Given the description of an element on the screen output the (x, y) to click on. 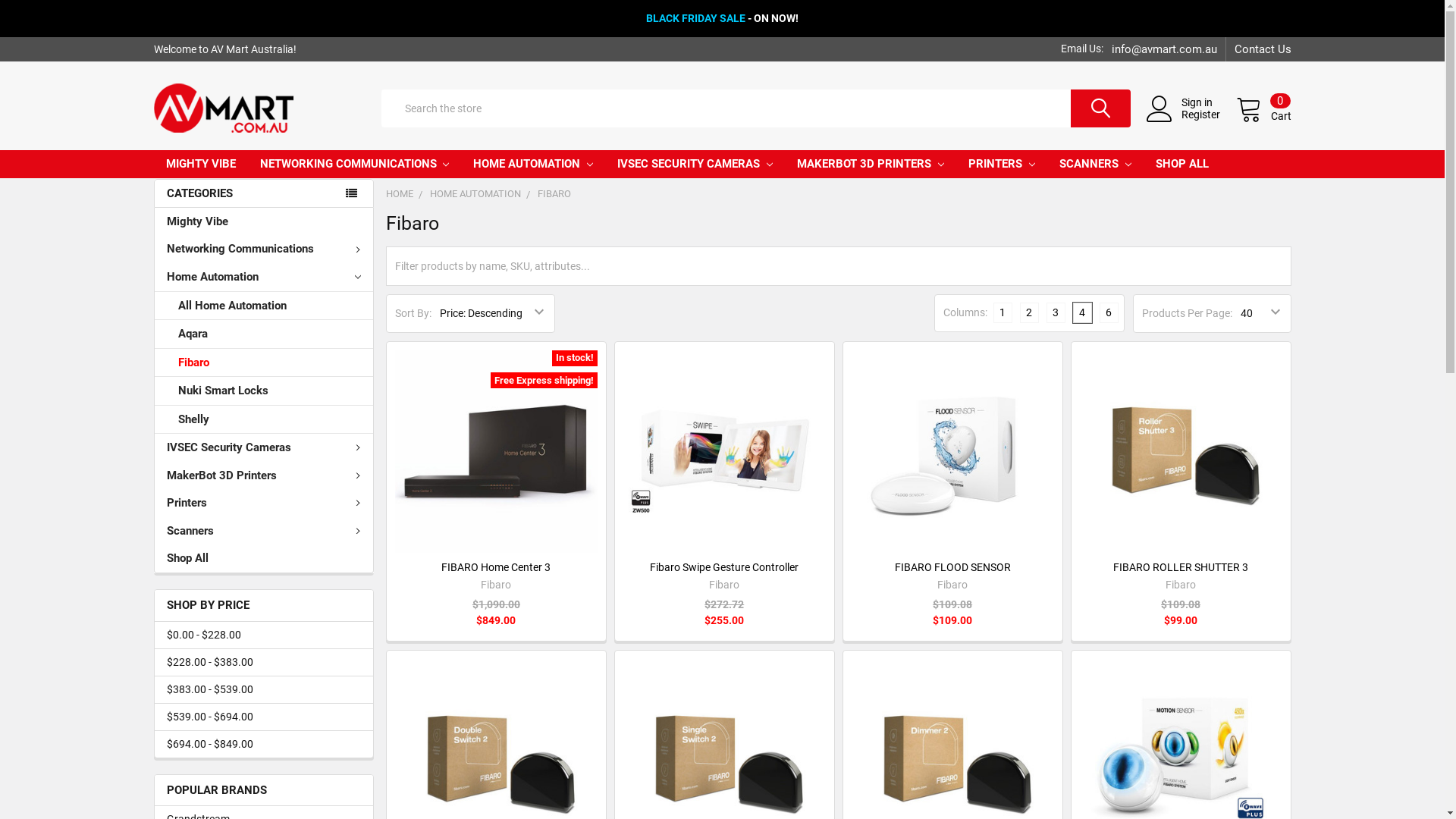
FIBARO FLOOD SENSOR Element type: hover (952, 451)
SCANNERS Element type: text (1095, 164)
$694.00 - $849.00 Element type: text (263, 744)
$228.00 - $383.00 Element type: text (263, 662)
Nuki Smart Locks Element type: text (263, 390)
MAKERBOT 3D PRINTERS Element type: text (870, 164)
Networking Communications Element type: text (263, 249)
HOME AUTOMATION Element type: text (533, 164)
Aqara Element type: text (263, 334)
FIBARO ROLLER SHUTTER 3 Element type: hover (1180, 451)
HOME AUTOMATION Element type: text (474, 193)
Fibaro Swipe Gesture Controller Element type: hover (724, 451)
IVSEC SECURITY CAMERAS Element type: text (694, 164)
Register Element type: text (1208, 114)
SHOP ALL Element type: text (1181, 164)
Search Element type: text (1087, 108)
HOME Element type: text (399, 193)
Fibaro Element type: text (263, 362)
All Home Automation Element type: text (263, 305)
Shop All Element type: text (263, 558)
CATEGORIES Element type: text (263, 193)
info@avmart.com.au Element type: text (1164, 49)
Fibaro Swipe Gesture Controller Element type: text (723, 567)
Fibaro Home Center 3 Element type: hover (496, 451)
FIBARO Home Center 3 Element type: text (495, 567)
Cart
0 Element type: text (1263, 108)
AV Mart Australia Element type: hover (223, 108)
$383.00 - $539.00 Element type: text (263, 689)
$0.00 - $228.00 Element type: text (263, 635)
Shelly Element type: text (263, 419)
Sign in Element type: text (1208, 102)
Mighty Vibe Element type: text (263, 221)
Scanners Element type: text (263, 531)
MIGHTY VIBE Element type: text (200, 164)
Home Automation Element type: text (263, 277)
FIBARO ROLLER SHUTTER 3 Element type: text (1180, 567)
FIBARO Element type: text (554, 193)
MakerBot 3D Printers Element type: text (263, 475)
Contact Us Element type: text (1258, 49)
IVSEC Security Cameras Element type: text (263, 447)
FIBARO FLOOD SENSOR Element type: text (952, 567)
$539.00 - $694.00 Element type: text (263, 716)
NETWORKING COMMUNICATIONS Element type: text (354, 164)
Printers Element type: text (263, 503)
PRINTERS Element type: text (1001, 164)
